Given the description of an element on the screen output the (x, y) to click on. 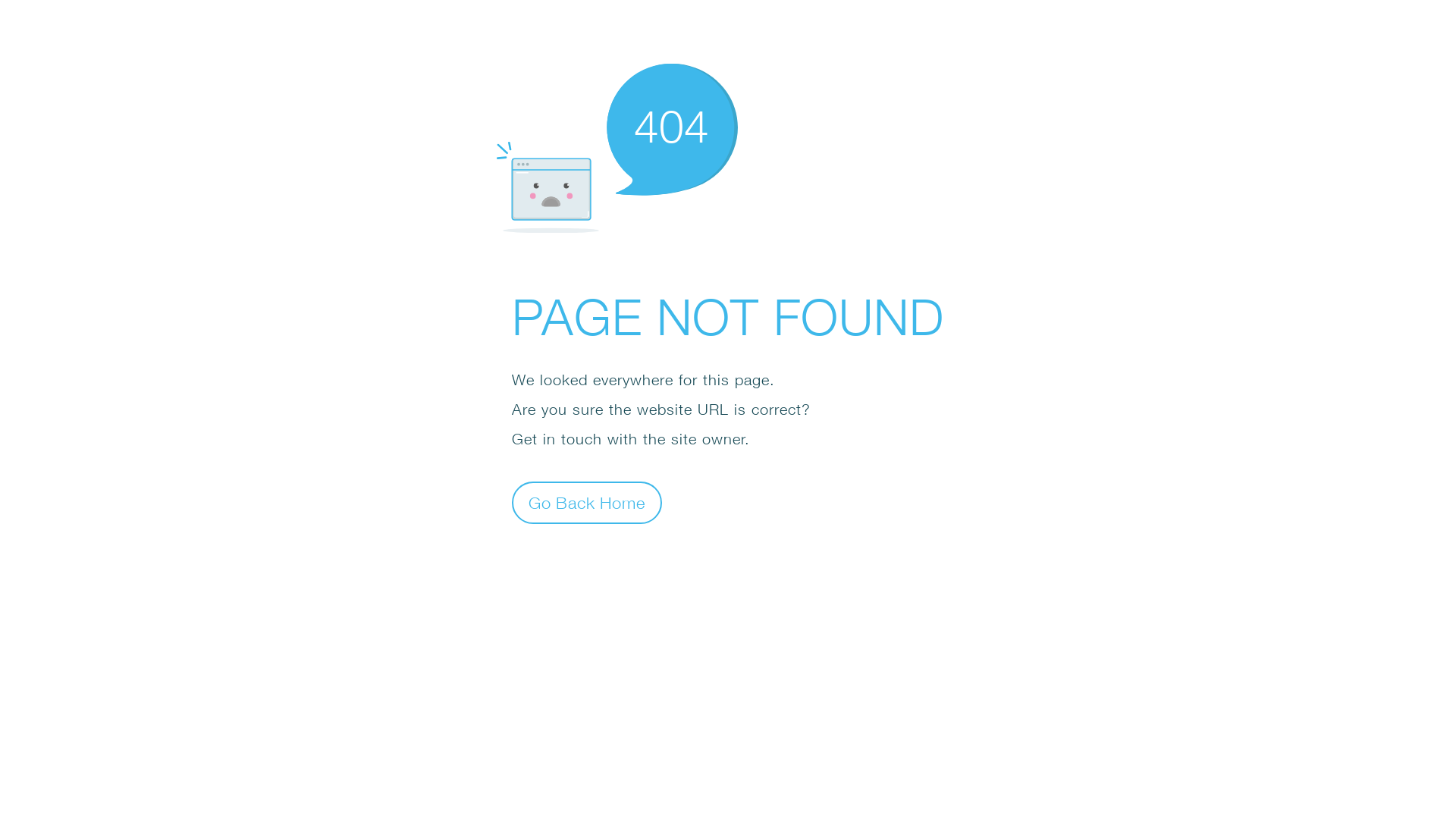
Go Back Home Element type: text (586, 502)
